Given the description of an element on the screen output the (x, y) to click on. 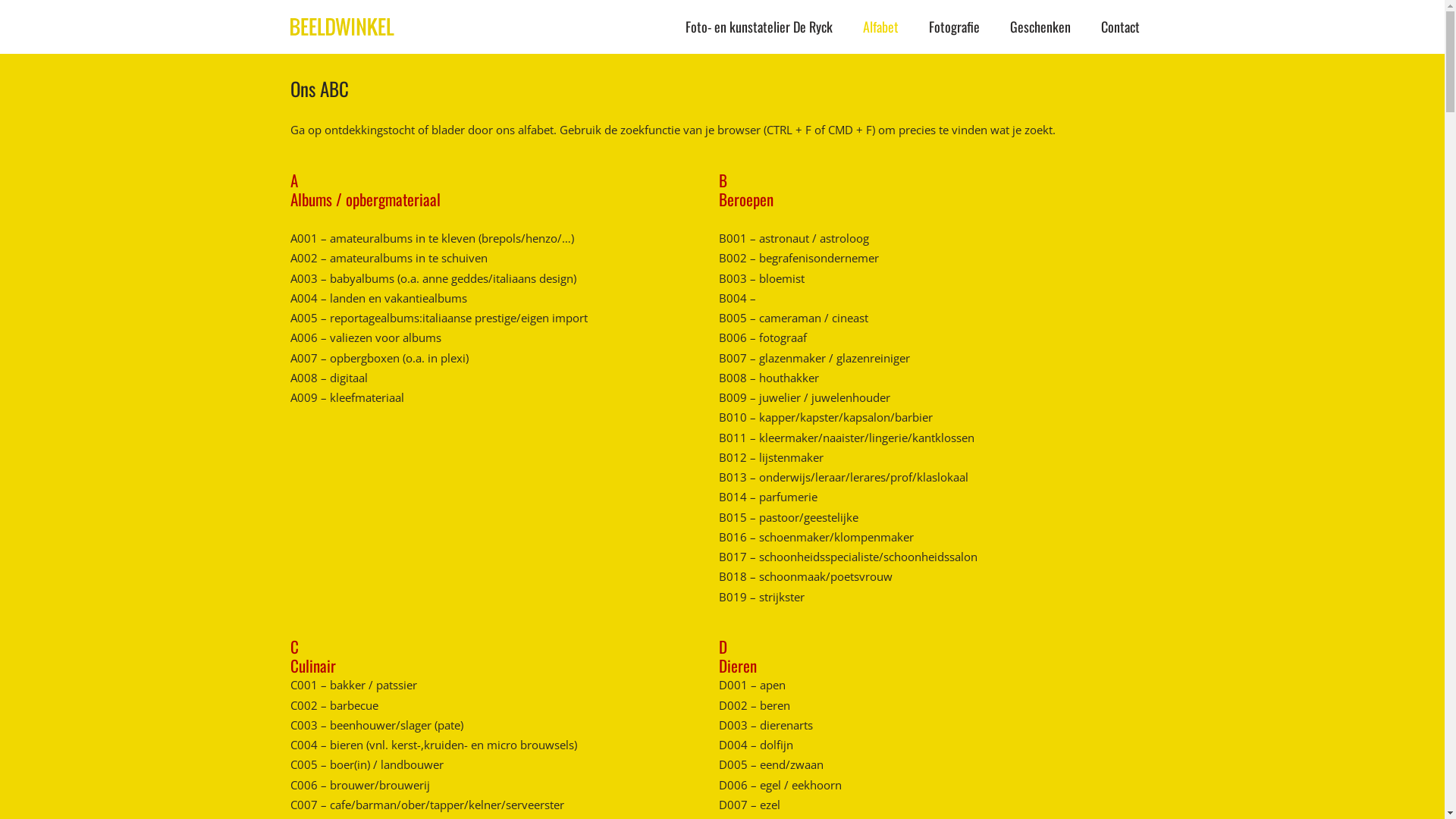
Contact Element type: text (1119, 26)
Fotografie Element type: text (953, 26)
Alfabet Element type: text (880, 26)
Geschenken Element type: text (1039, 26)
Foto- en kunstatelier De Ryck Element type: text (758, 26)
